Given the description of an element on the screen output the (x, y) to click on. 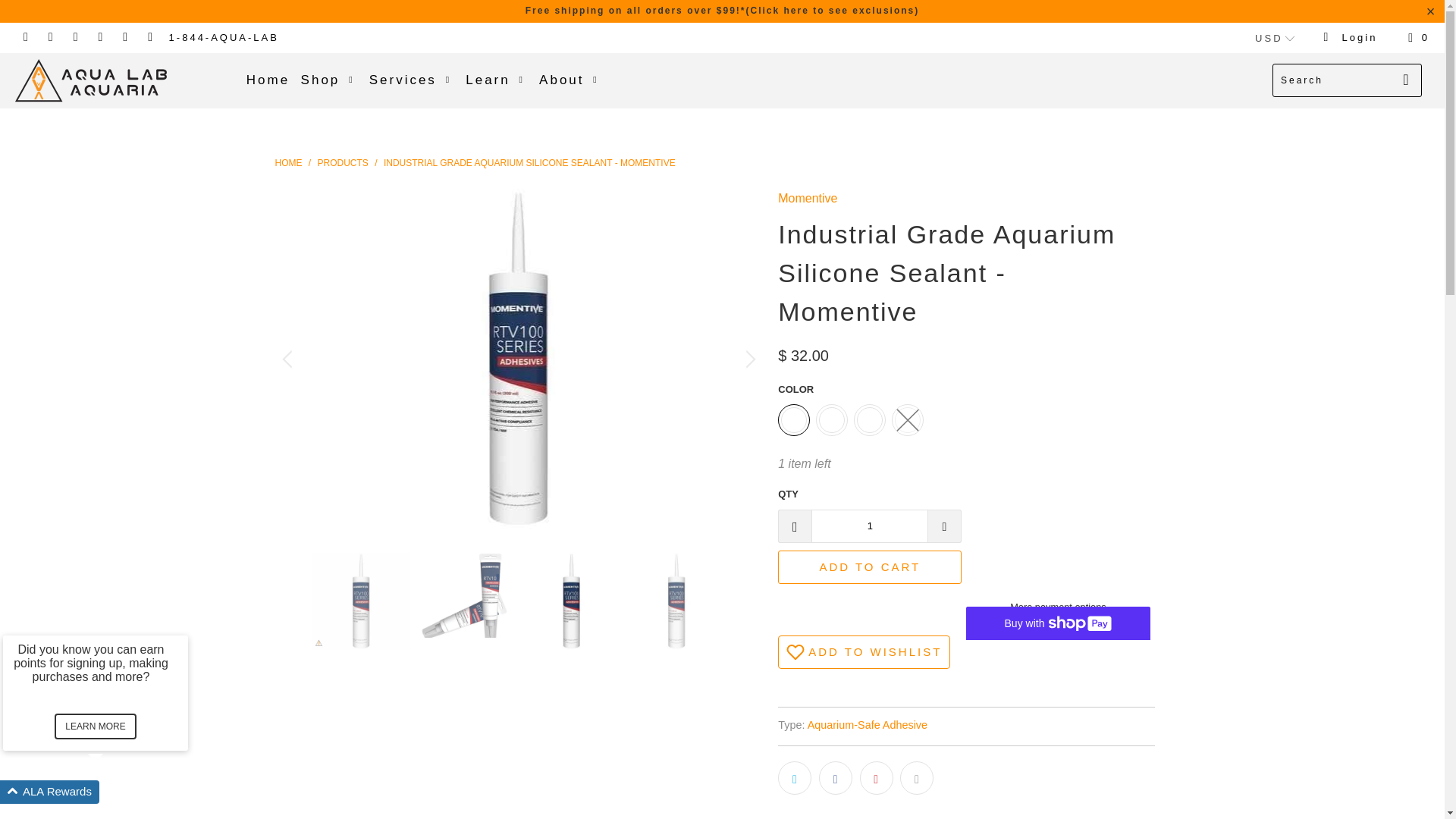
Aqua Lab Aquaria on Pinterest (100, 37)
Aqua Lab Aquaria on YouTube (75, 37)
Aqua Lab Aquaria on Facebook (50, 37)
My Account  (1350, 37)
Email Aqua Lab Aquaria (149, 37)
Aqua Lab Aquaria on Instagram (124, 37)
1 (869, 525)
Aqua Lab Aquaria (288, 163)
Aqua Lab Aquaria on Twitter (25, 37)
Aqua Lab Aquaria (122, 80)
